Given the description of an element on the screen output the (x, y) to click on. 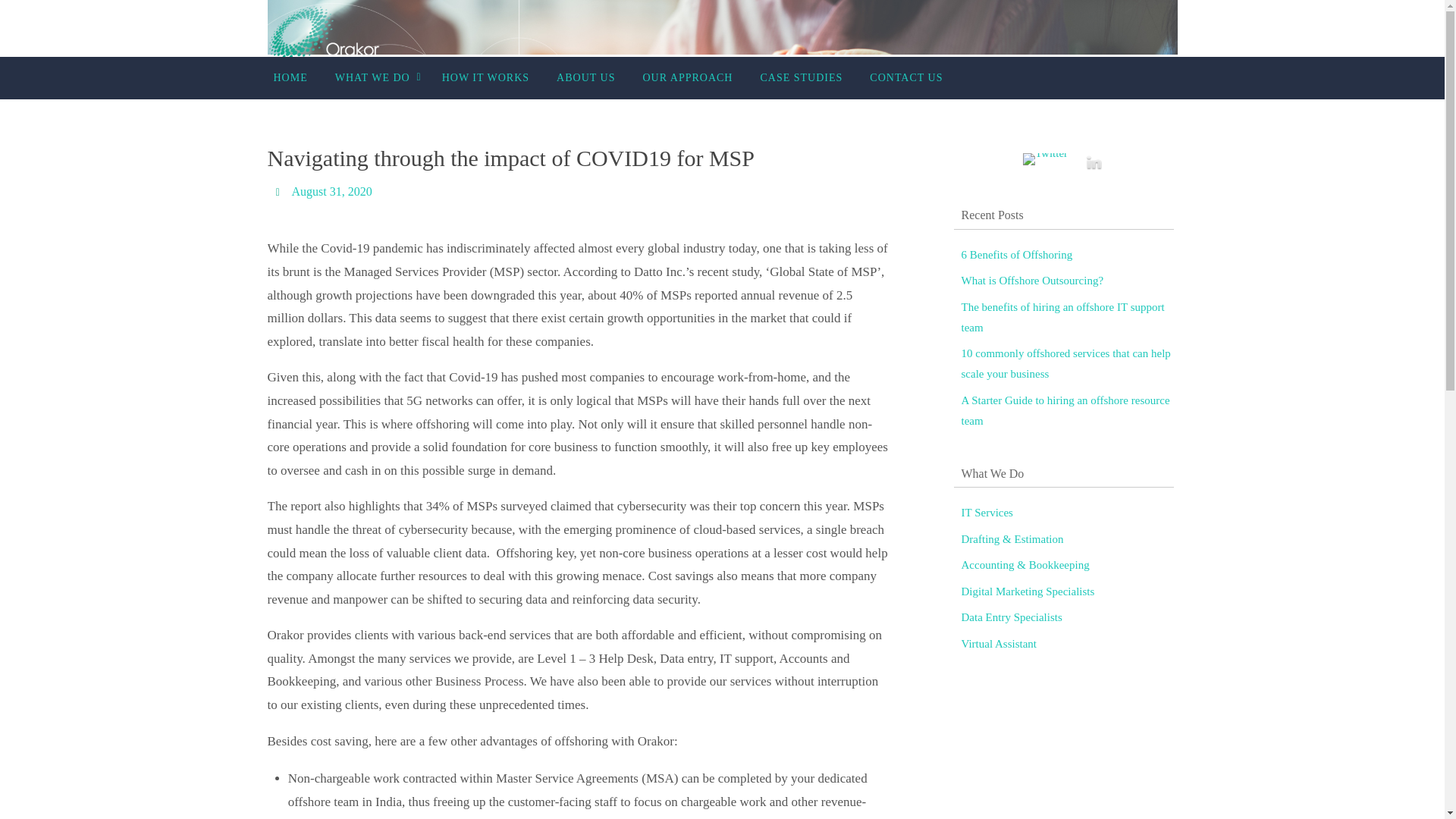
August 31, 2020 (331, 192)
Data Entry Specialists (1011, 617)
The benefits of hiring an offshore IT support team (1062, 317)
Digital Marketing Specialists (1027, 591)
WHAT WE DO (374, 77)
Twitter (1044, 159)
CASE STUDIES (800, 77)
IT Services (986, 512)
Date (278, 191)
OUR APPROACH (686, 77)
A Starter Guide to hiring an offshore resource team (1065, 410)
Virtual Assistant (998, 644)
HOME (289, 77)
ABOUT US (585, 77)
Orakor Blog (323, 34)
